Given the description of an element on the screen output the (x, y) to click on. 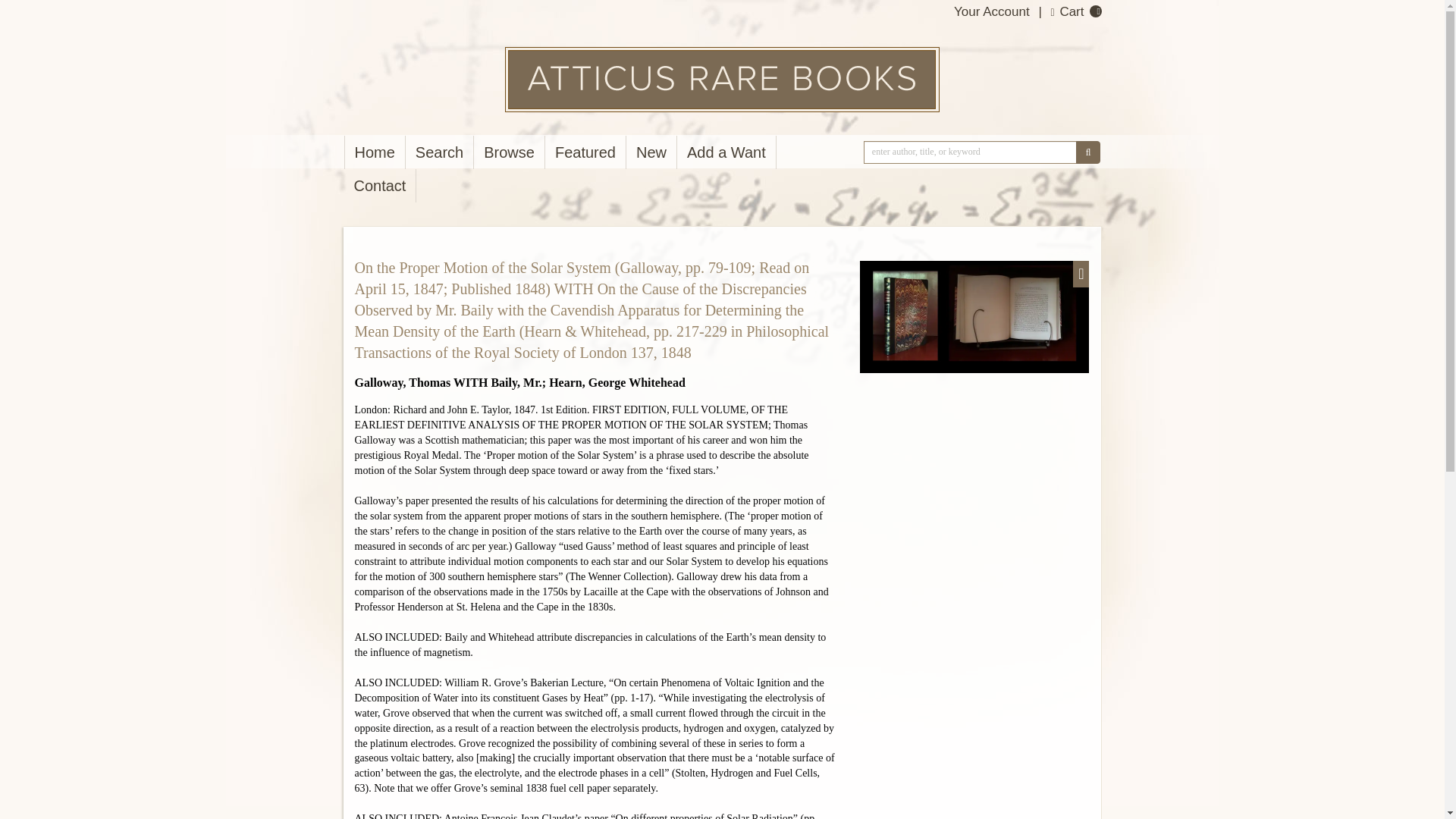
SUBMIT SEARCH (1087, 151)
Your Account (991, 11)
Atticus Rare Books (721, 79)
Featured (585, 151)
Browse (509, 151)
New (651, 151)
Search (439, 151)
Add a Want (726, 151)
Contact (379, 185)
Cart (1067, 11)
